Given the description of an element on the screen output the (x, y) to click on. 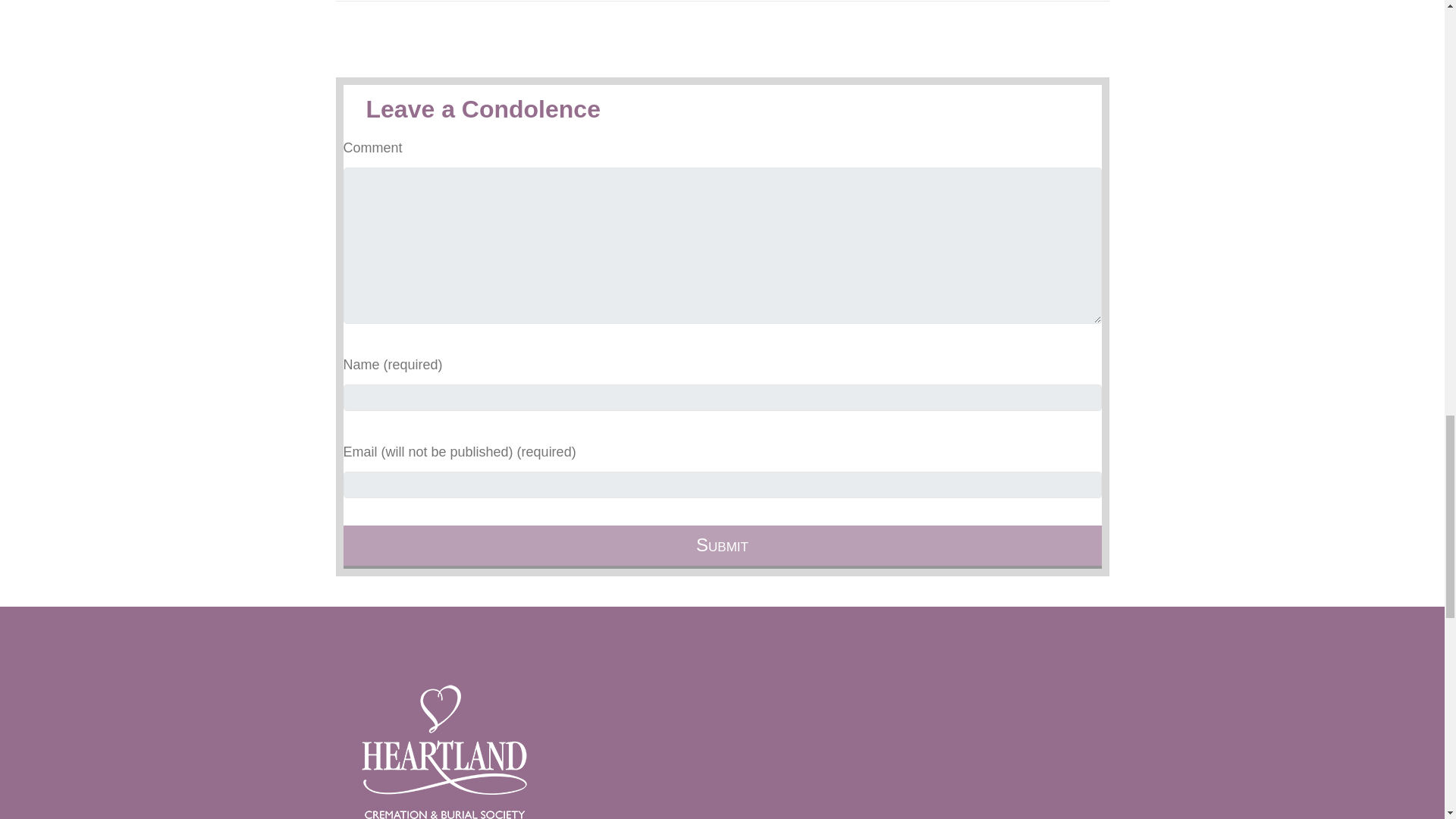
footer-sml-HeartLandWhiteNoBackground (443, 750)
Submit (721, 546)
